Given the description of an element on the screen output the (x, y) to click on. 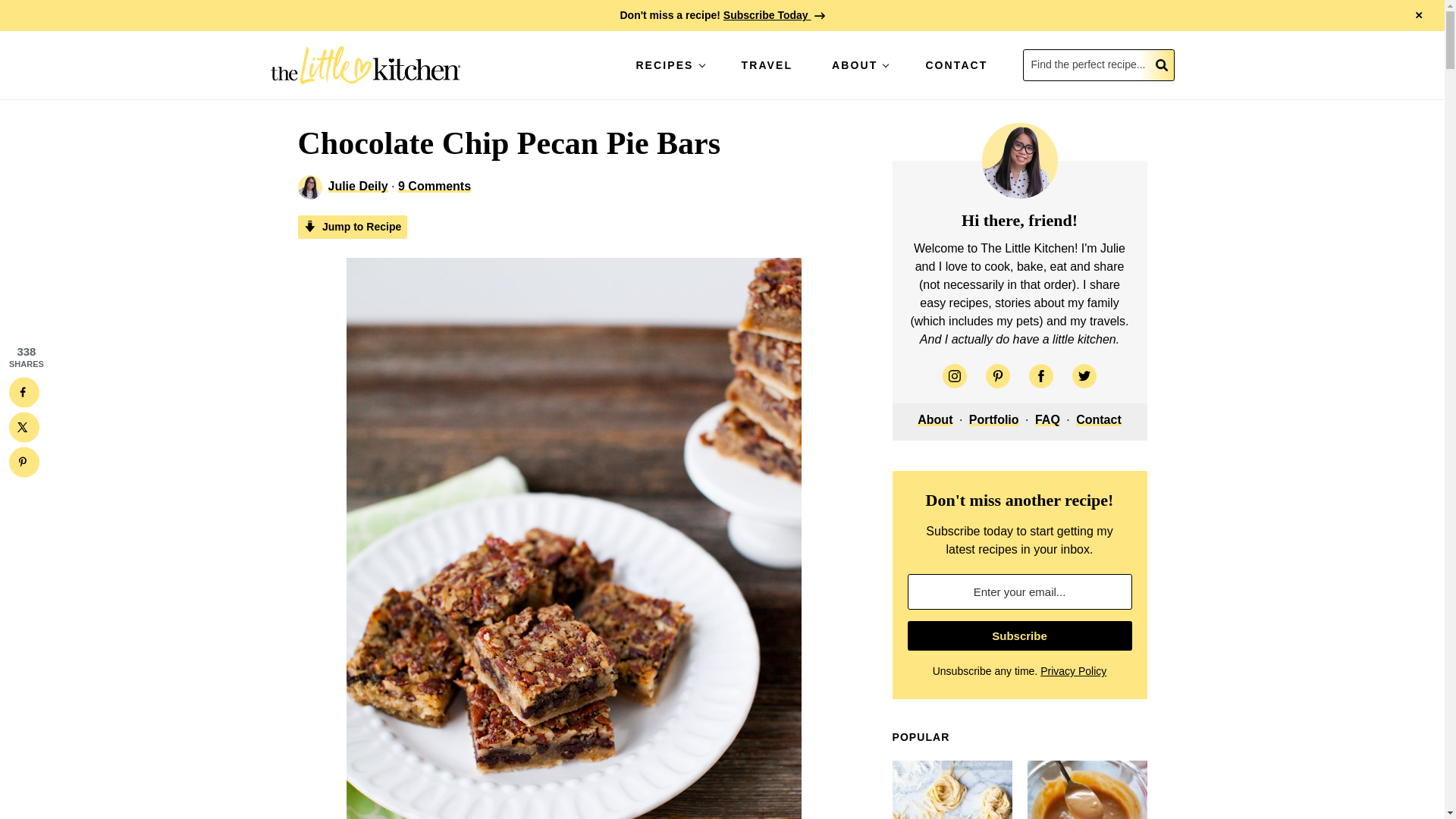
Submit search (1161, 64)
Jump to Recipe (352, 227)
Julie Deily (357, 185)
9 Comments (433, 185)
RECIPES (668, 64)
ABOUT (858, 64)
TRAVEL (767, 64)
CONTACT (955, 64)
Subscribe Today (774, 15)
